Given the description of an element on the screen output the (x, y) to click on. 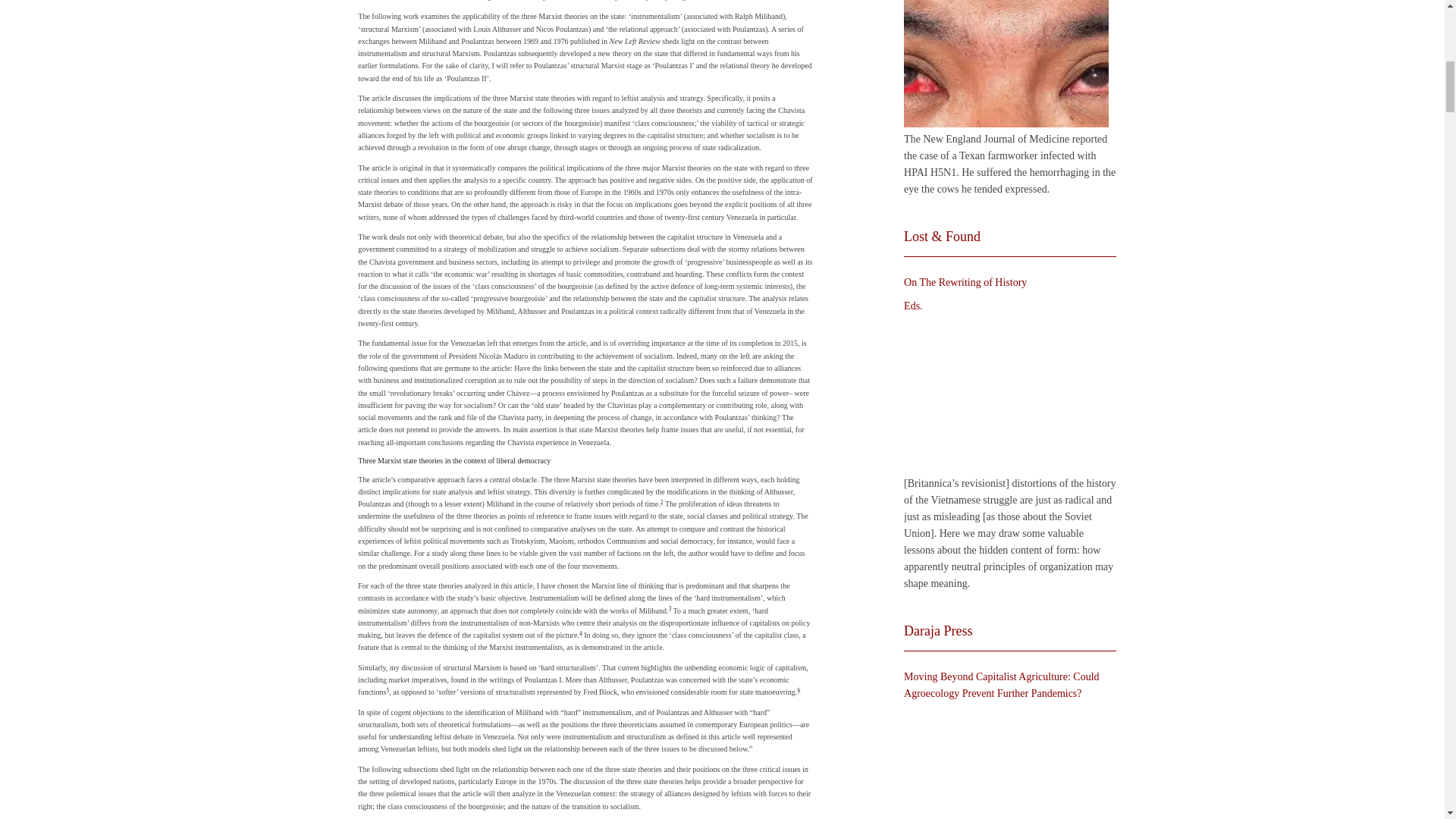
Whether Bird Flu Is on the March Misses the Point (1006, 63)
Posts by Eds. (913, 306)
On The Rewriting of History (1006, 394)
